Given the description of an element on the screen output the (x, y) to click on. 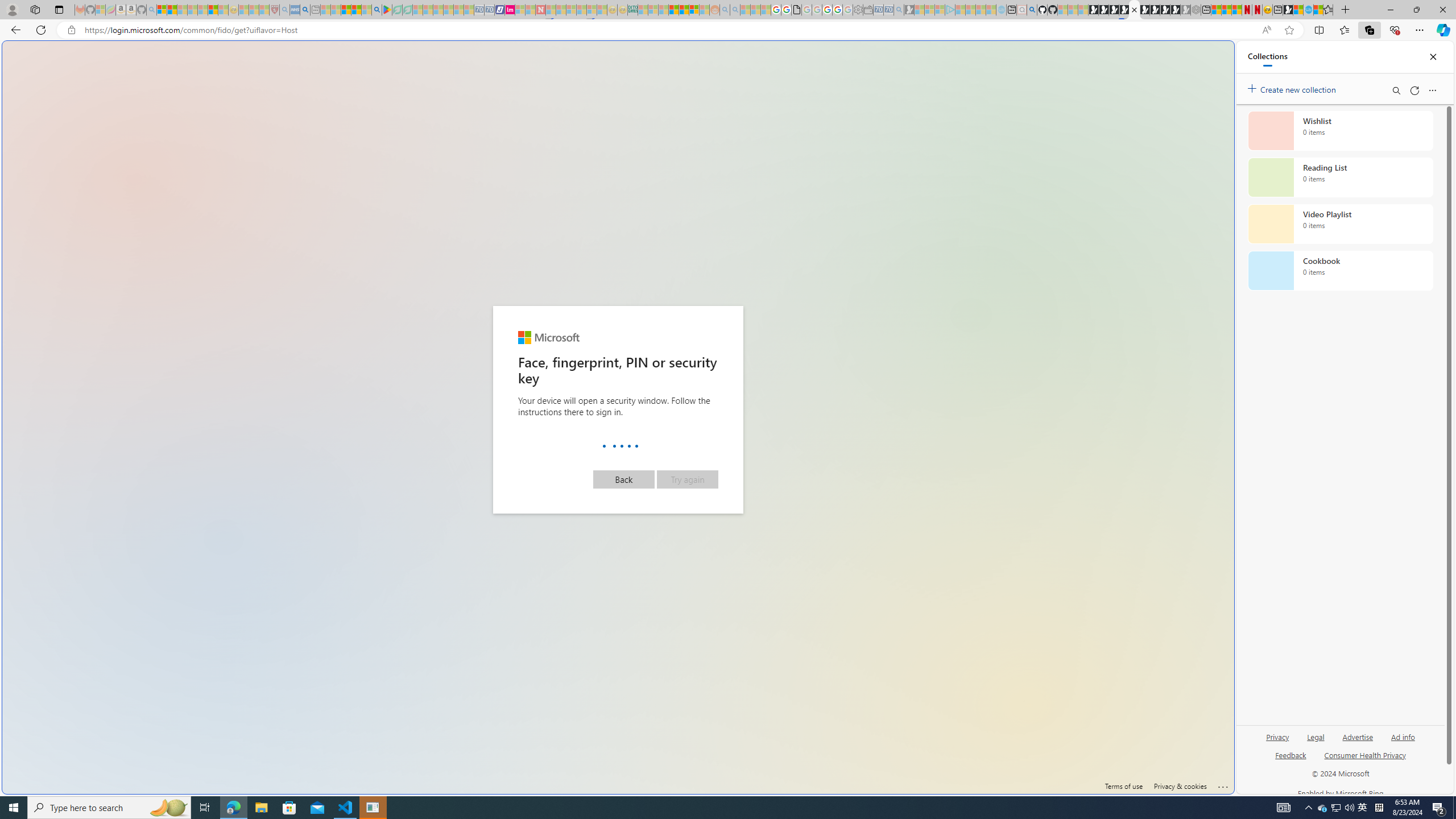
Latest Politics News & Archive | Newsweek.com - Sleeping (539, 9)
Pets - MSN (356, 9)
